Given the description of an element on the screen output the (x, y) to click on. 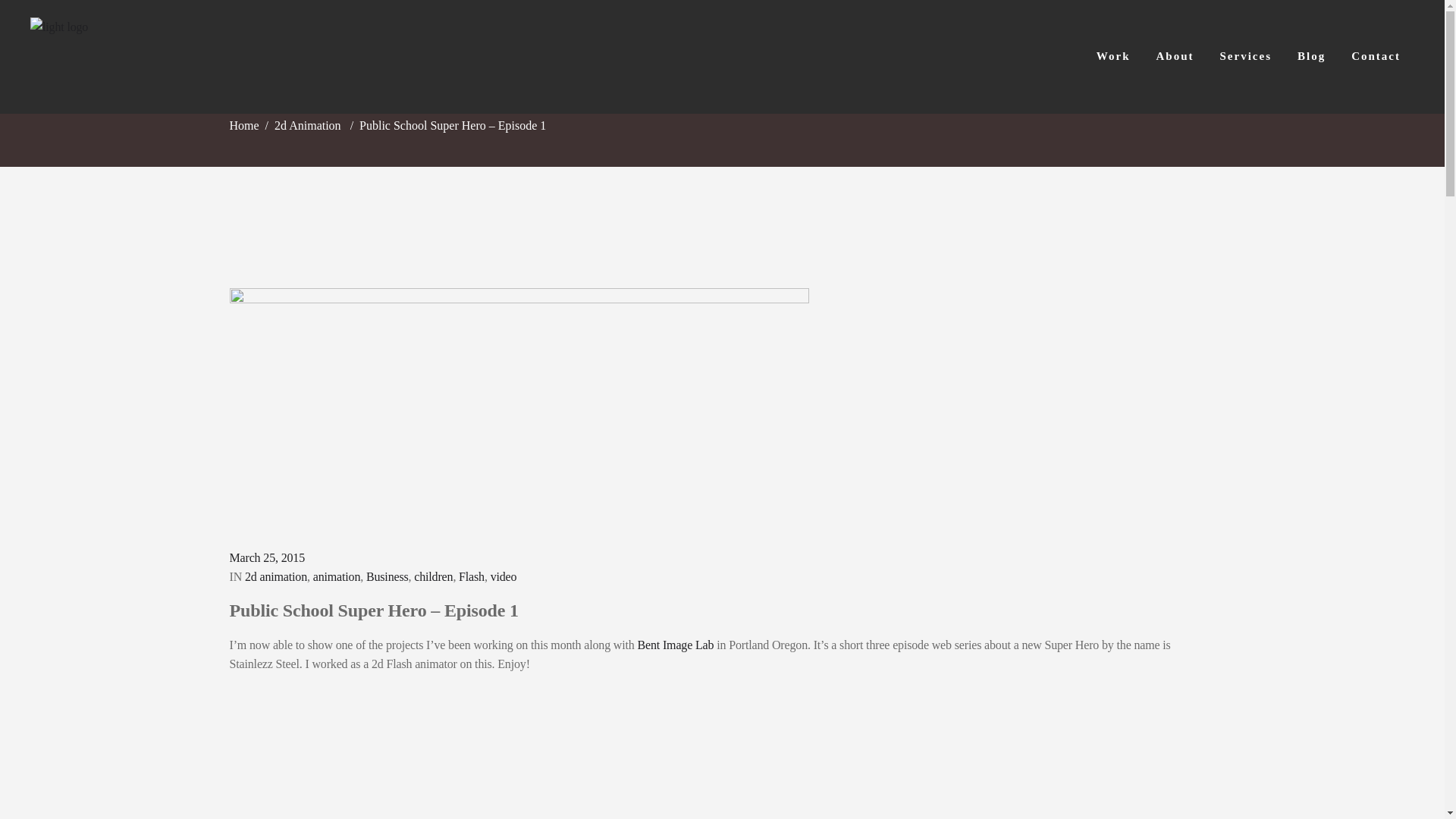
2d Animation (307, 125)
2d animation (275, 576)
Home (243, 125)
Bent Image Lab (675, 644)
March 25, 2015 (266, 557)
animation (337, 576)
